Given the description of an element on the screen output the (x, y) to click on. 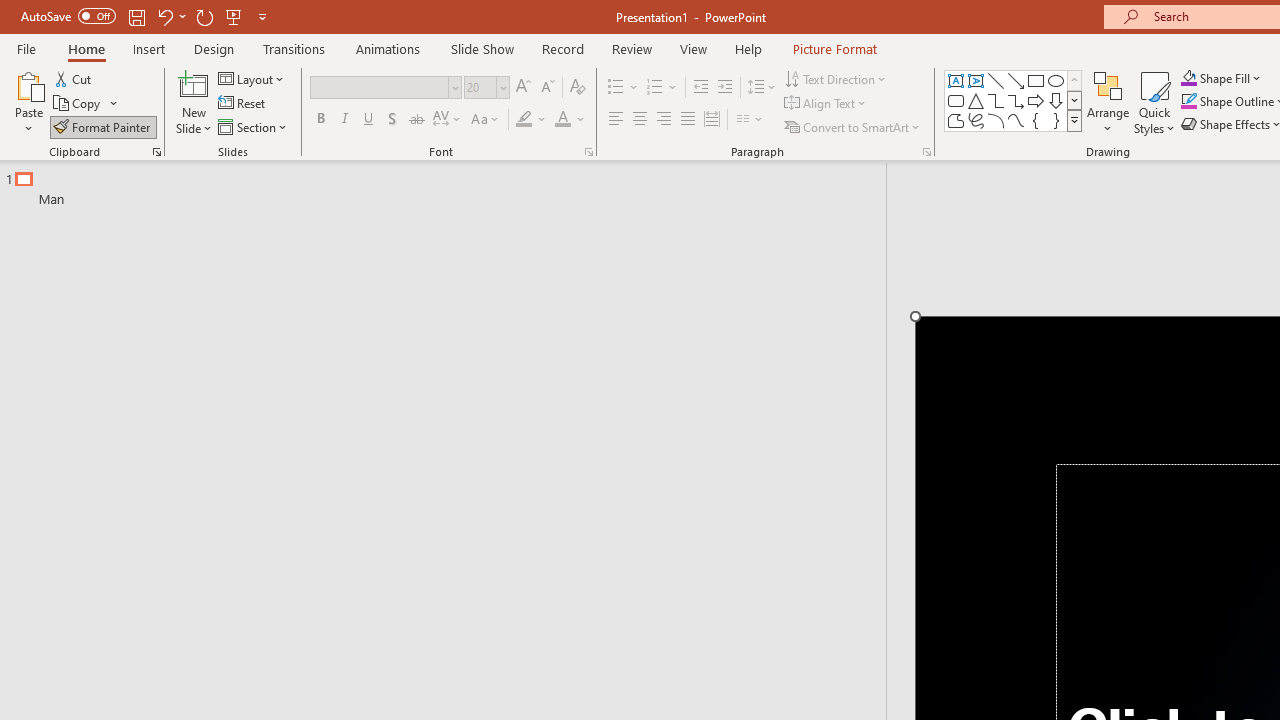
Paste (28, 102)
Center (639, 119)
Underline (369, 119)
Numbering (661, 87)
Freeform: Scribble (975, 120)
Section (254, 126)
Arrow: Down (1055, 100)
Rectangle: Rounded Corners (955, 100)
Open (502, 87)
Align Right (663, 119)
Decrease Font Size (547, 87)
